Given the description of an element on the screen output the (x, y) to click on. 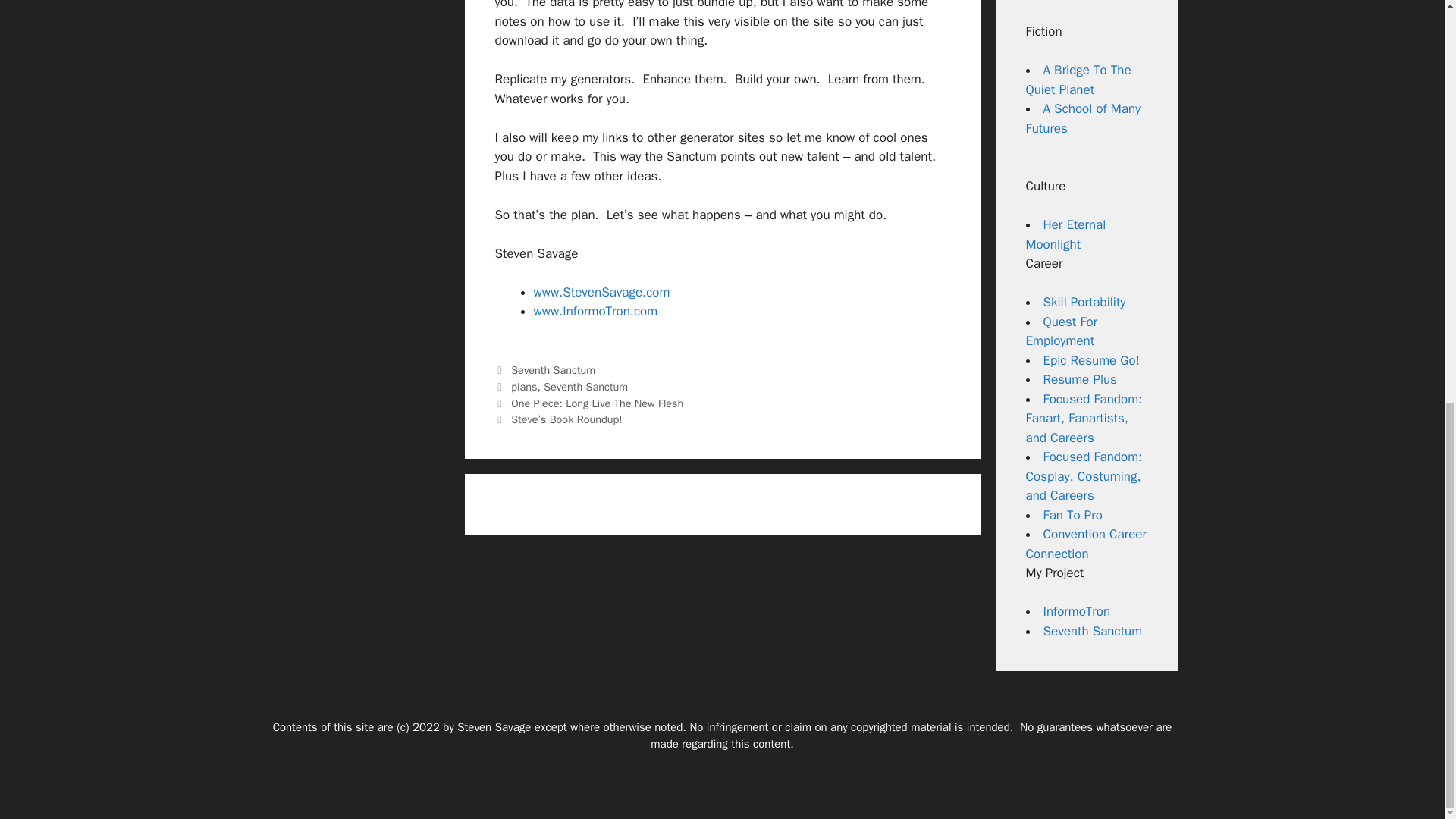
www.StevenSavage.com (601, 292)
Seventh Sanctum (585, 386)
Scroll back to top (1406, 744)
A Bridge To The Quiet Planet (1078, 79)
One Piece: Long Live The New Flesh (596, 403)
www.InformoTron.com (596, 311)
Seventh Sanctum (553, 369)
plans (524, 386)
